Given the description of an element on the screen output the (x, y) to click on. 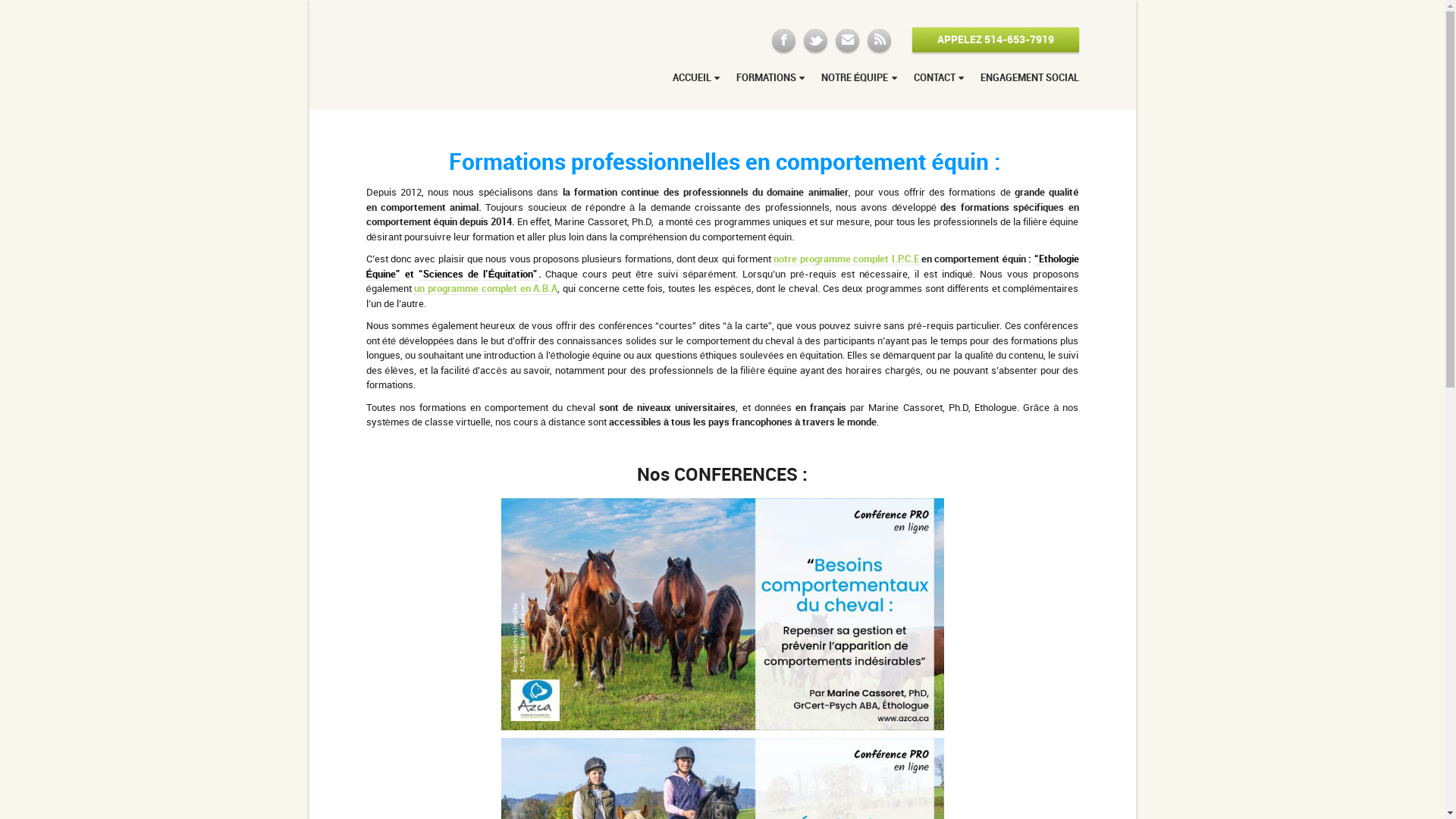
un programme complet en A.B.A Element type: text (485, 288)
APPELEZ 514-653-7919 Element type: text (994, 39)
ACCUEIL Element type: text (696, 80)
FORMATIONS Element type: text (770, 80)
CONTACT Element type: text (938, 80)
notre programme complet I.P.C.E Element type: text (846, 259)
ENGAGEMENT SOCIAL Element type: text (1025, 80)
